Given the description of an element on the screen output the (x, y) to click on. 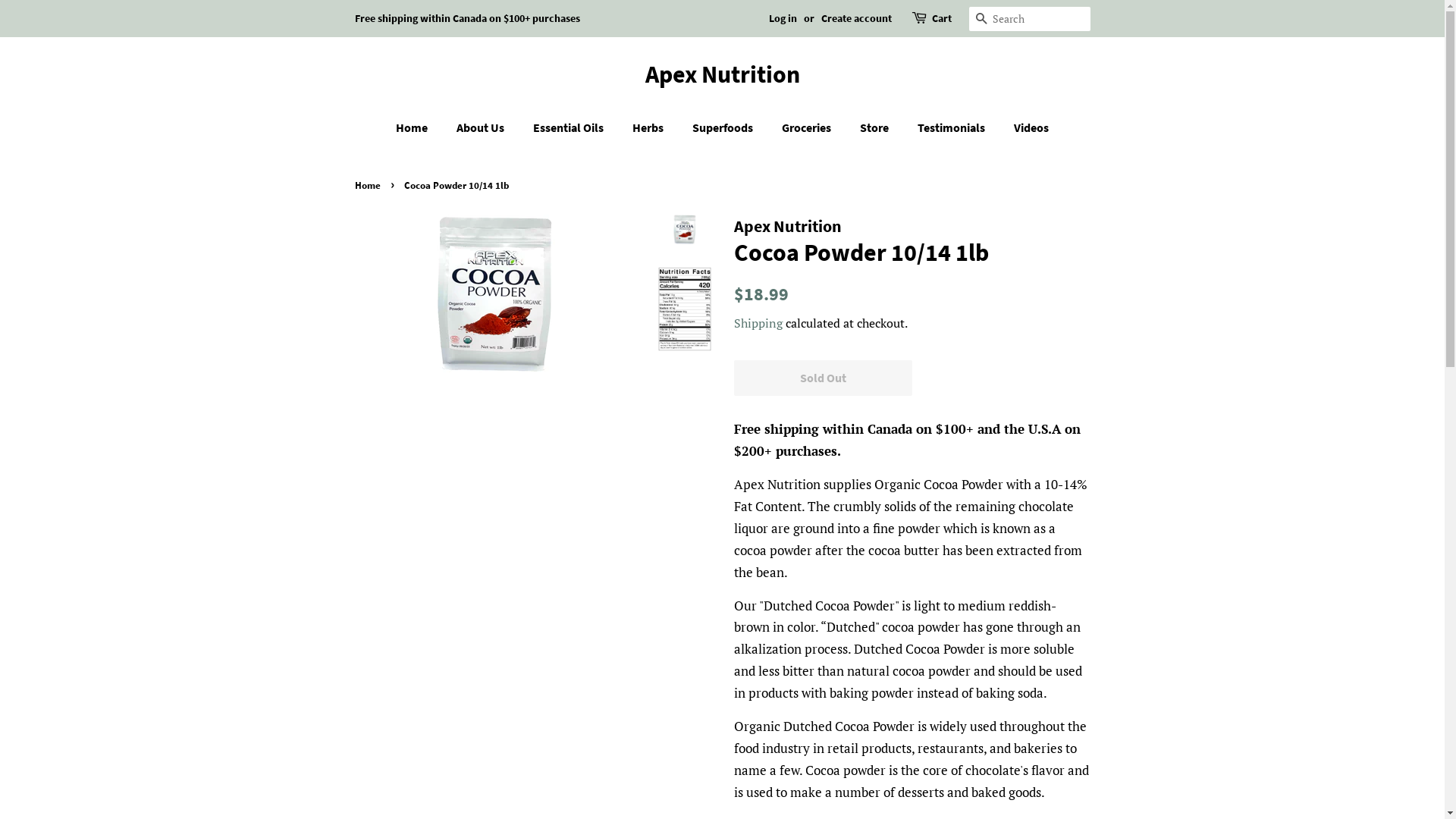
Testimonials Element type: text (953, 127)
Store Element type: text (875, 127)
Shipping Element type: text (758, 322)
Search Element type: text (981, 18)
Essential Oils Element type: text (569, 127)
Videos Element type: text (1025, 127)
Home Element type: text (418, 127)
Sold Out Element type: text (823, 377)
Superfoods Element type: text (724, 127)
Home Element type: text (369, 184)
Log in Element type: text (782, 18)
About Us Element type: text (482, 127)
Herbs Element type: text (649, 127)
Groceries Element type: text (808, 127)
Create account Element type: text (855, 18)
Apex Nutrition Element type: text (722, 73)
Cart Element type: text (940, 18)
